Given the description of an element on the screen output the (x, y) to click on. 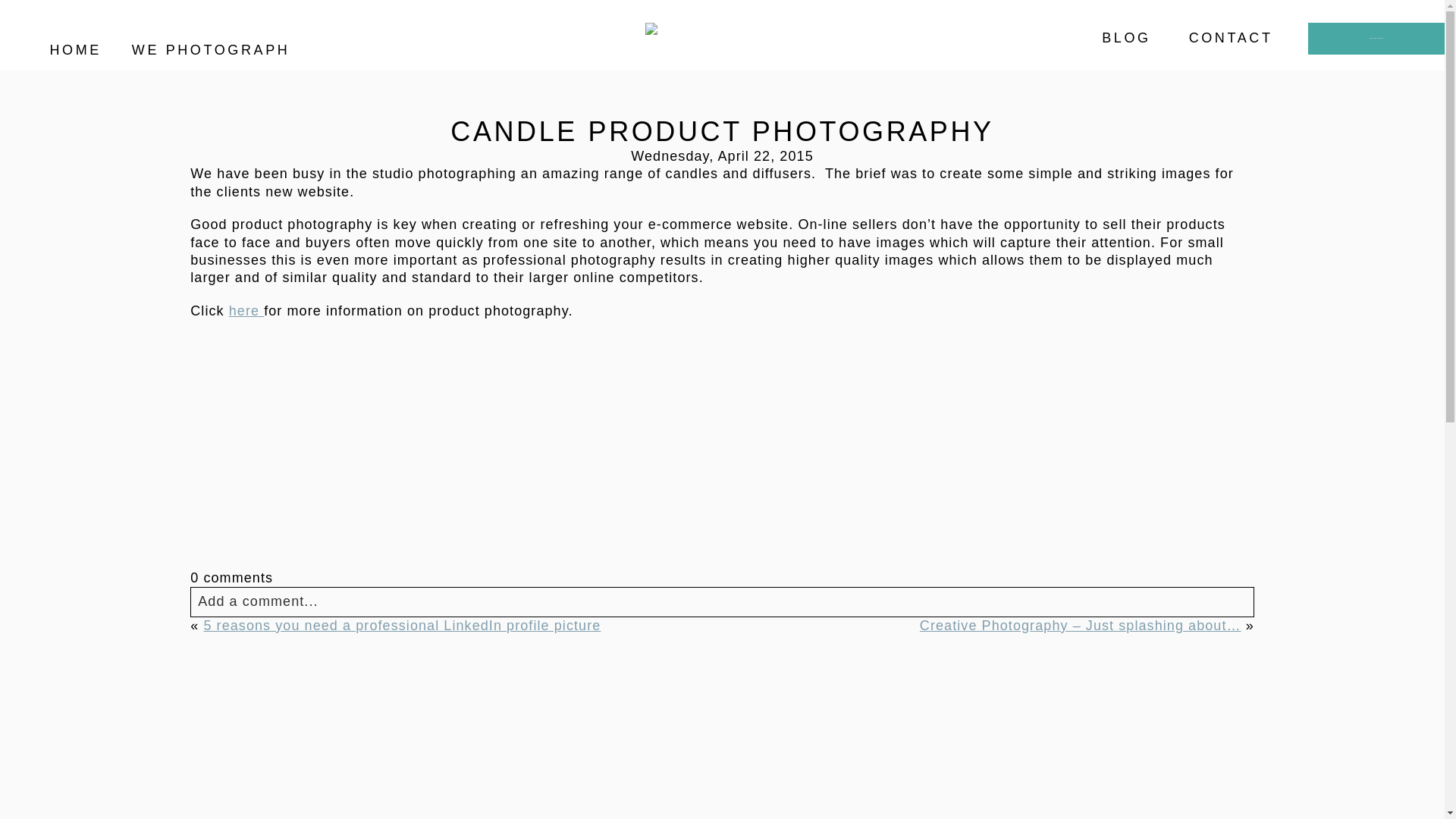
BLOG (1126, 37)
CONTACT (1230, 37)
5 reasons you need a professional LinkedIn profile picture (401, 625)
here (245, 310)
HOME (74, 49)
0118 328 3088 (1374, 37)
